Given the description of an element on the screen output the (x, y) to click on. 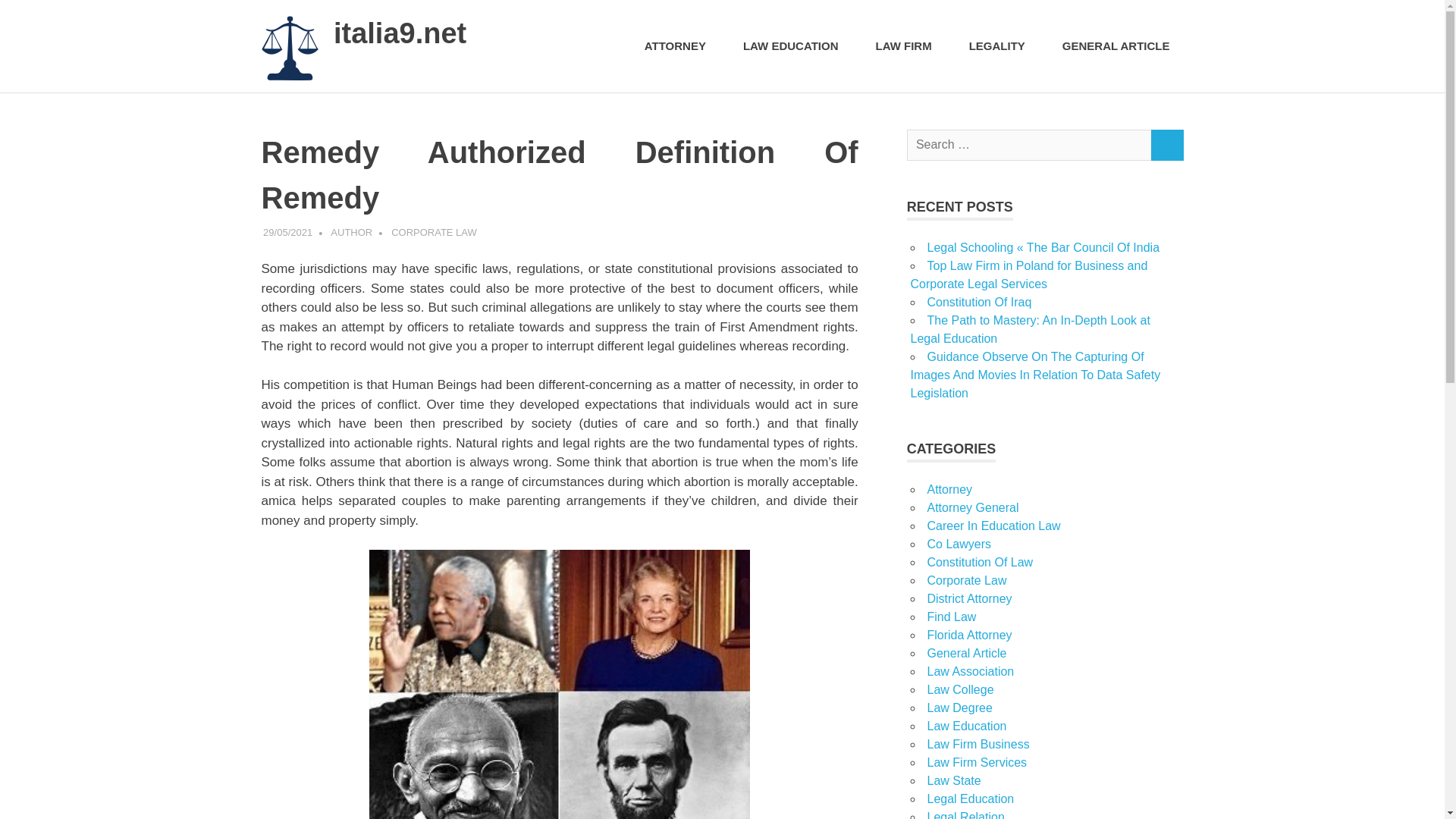
AUTHOR (351, 232)
Search for: (1029, 144)
CORPORATE LAW (434, 232)
LEGALITY (1001, 46)
LAW EDUCATION (795, 46)
LAW FIRM (908, 46)
GENERAL ARTICLE (1115, 46)
10:19 (288, 232)
ATTORNEY (679, 46)
italia9.net (399, 33)
